Given the description of an element on the screen output the (x, y) to click on. 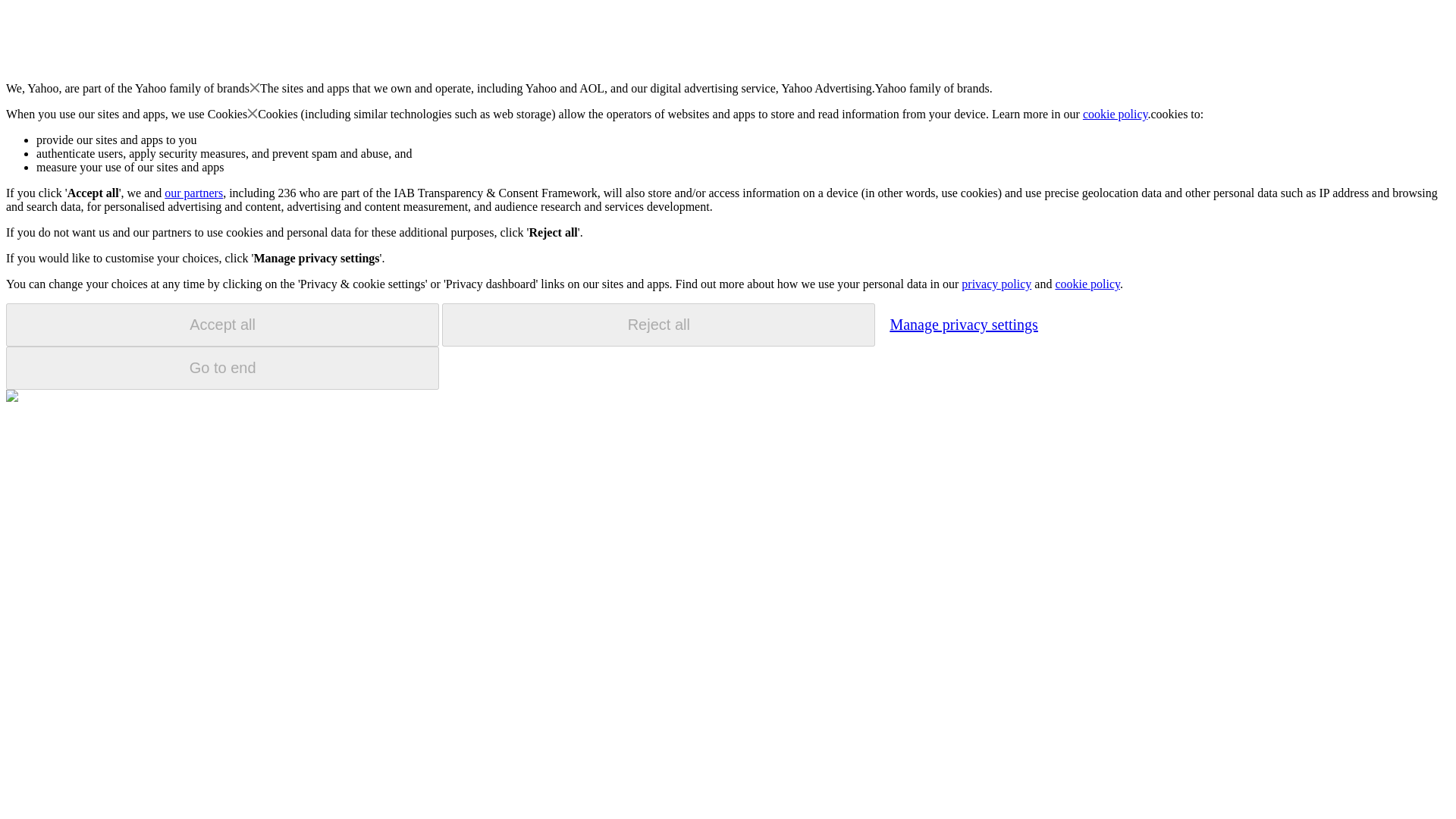
our partners (193, 192)
cookie policy (1115, 113)
privacy policy (995, 283)
cookie policy (1086, 283)
Manage privacy settings (963, 323)
Reject all (658, 324)
Go to end (222, 367)
Accept all (222, 324)
